Given the description of an element on the screen output the (x, y) to click on. 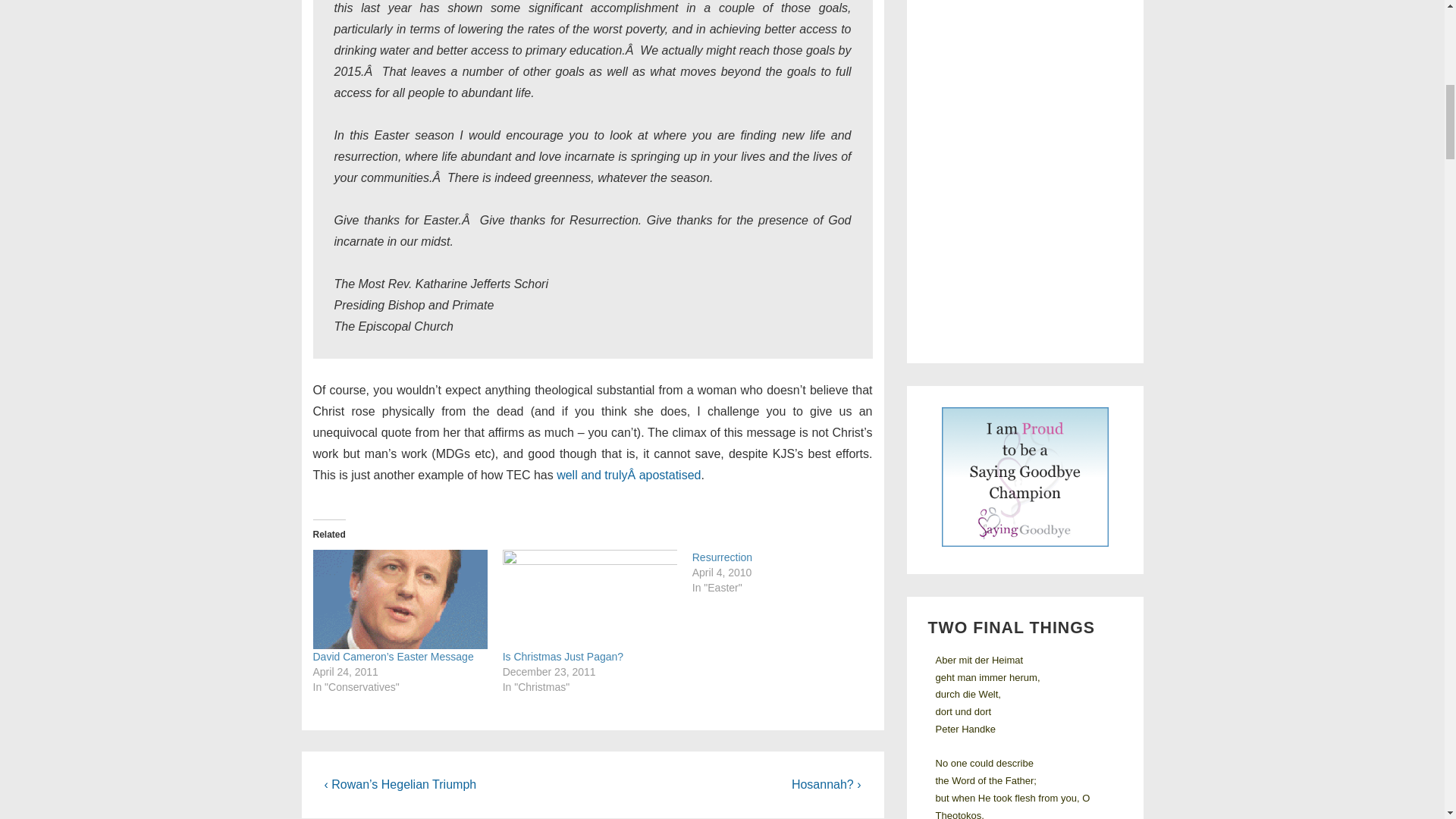
Is Christmas Just Pagan? (589, 599)
Resurrection (787, 572)
Is Christmas Just Pagan? (563, 656)
Resurrection (722, 557)
